Given the description of an element on the screen output the (x, y) to click on. 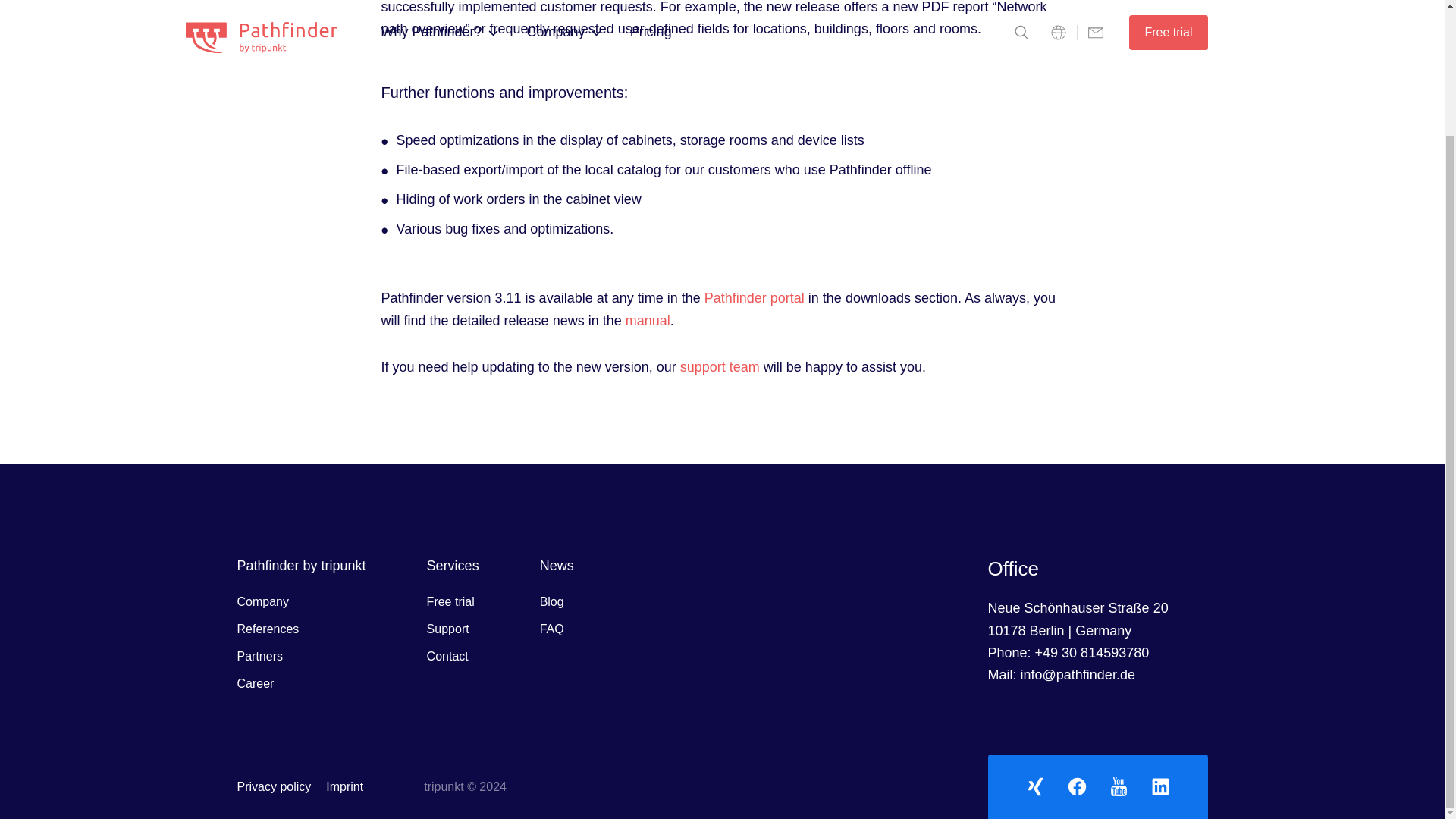
LinkedIn (1160, 786)
Facebook (1076, 786)
YouTube (1117, 786)
Xing (1034, 786)
